Given the description of an element on the screen output the (x, y) to click on. 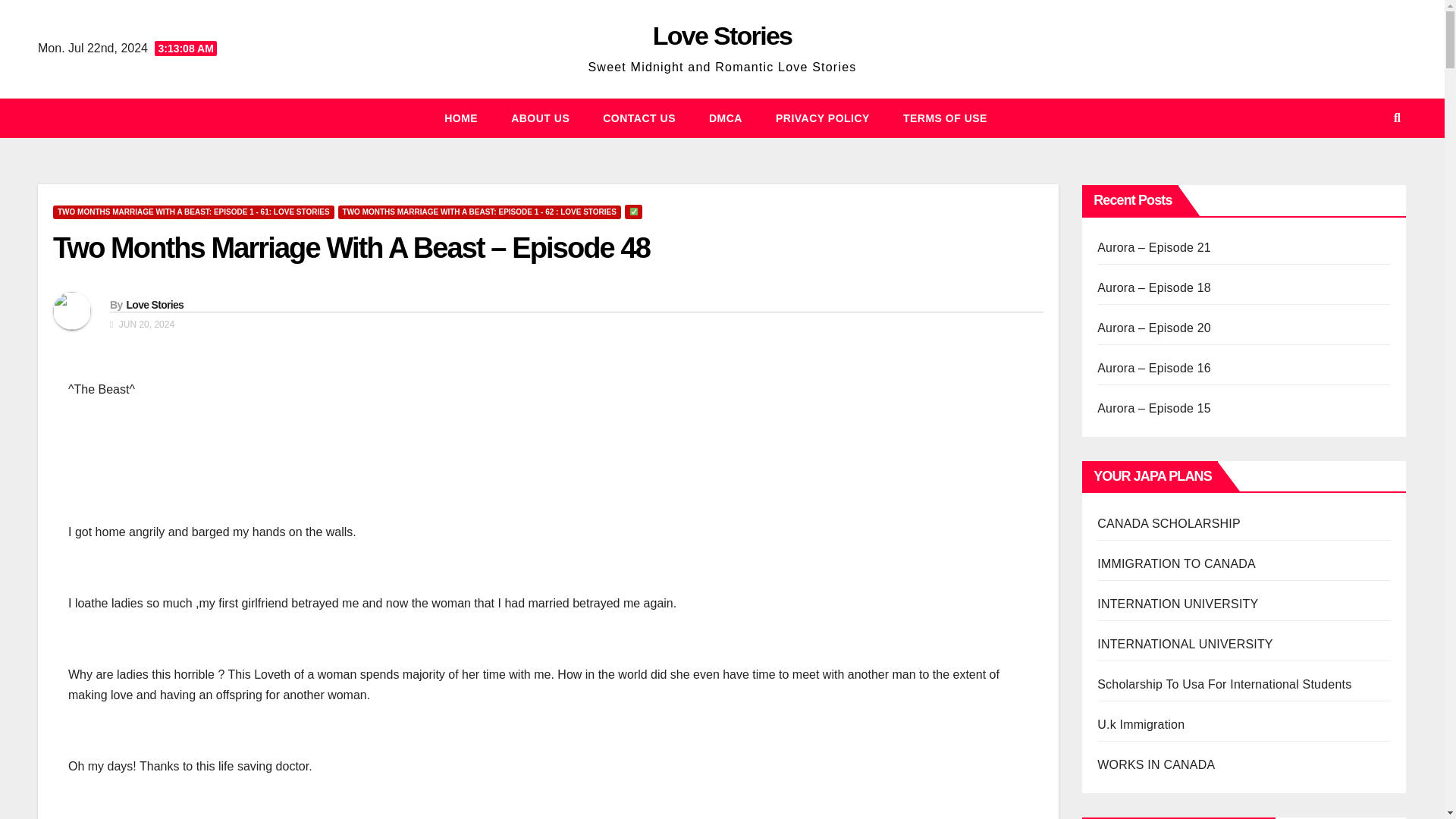
CONTACT US (639, 118)
Home (461, 118)
DMCA (725, 118)
PRIVACY POLICY (822, 118)
Love Stories (154, 304)
TERMS OF USE (945, 118)
HOME (461, 118)
ABOUT US (540, 118)
Love Stories (722, 35)
